Given the description of an element on the screen output the (x, y) to click on. 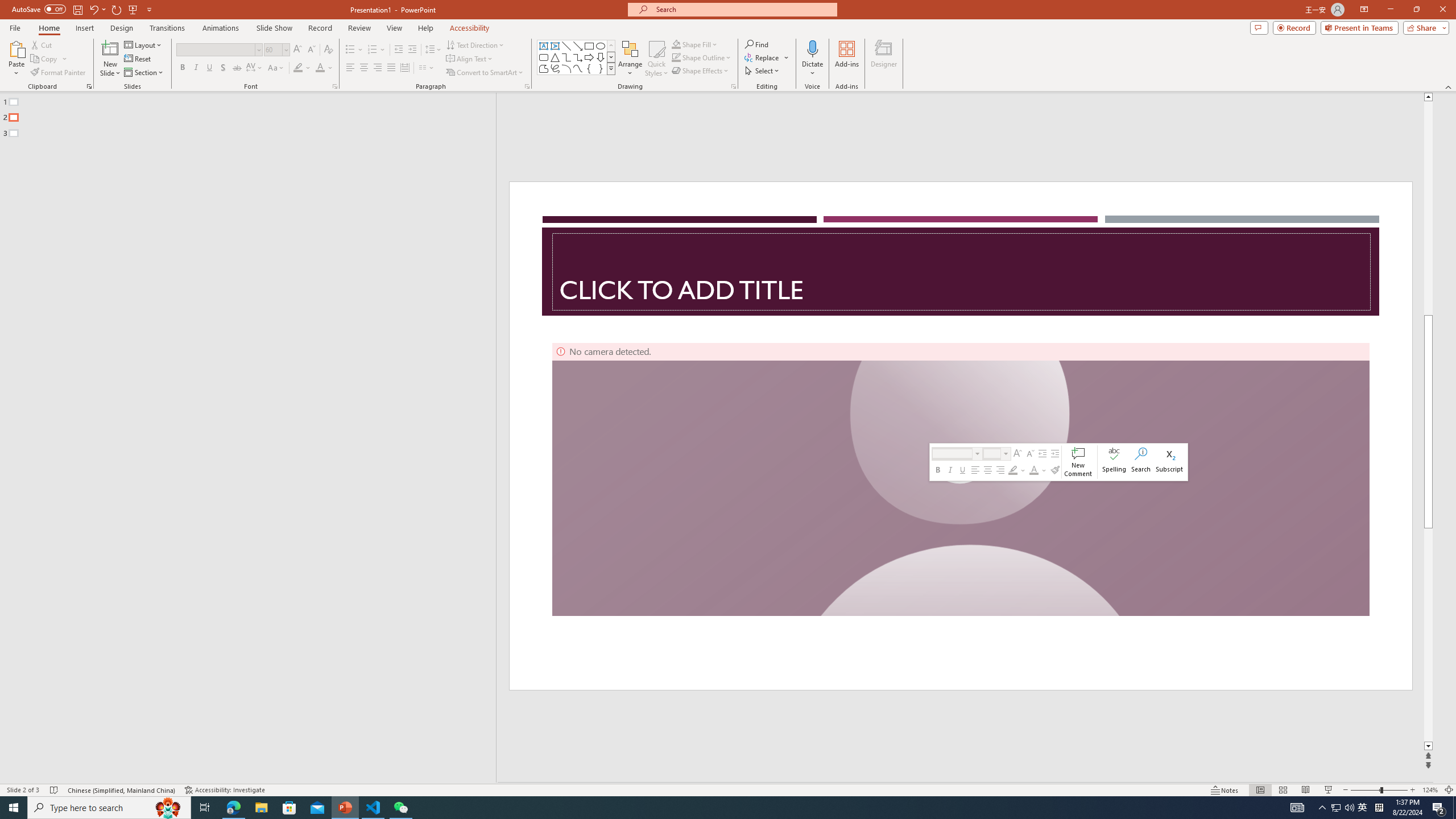
Shape Outline Blue, Accent 1 (675, 56)
